Given the description of an element on the screen output the (x, y) to click on. 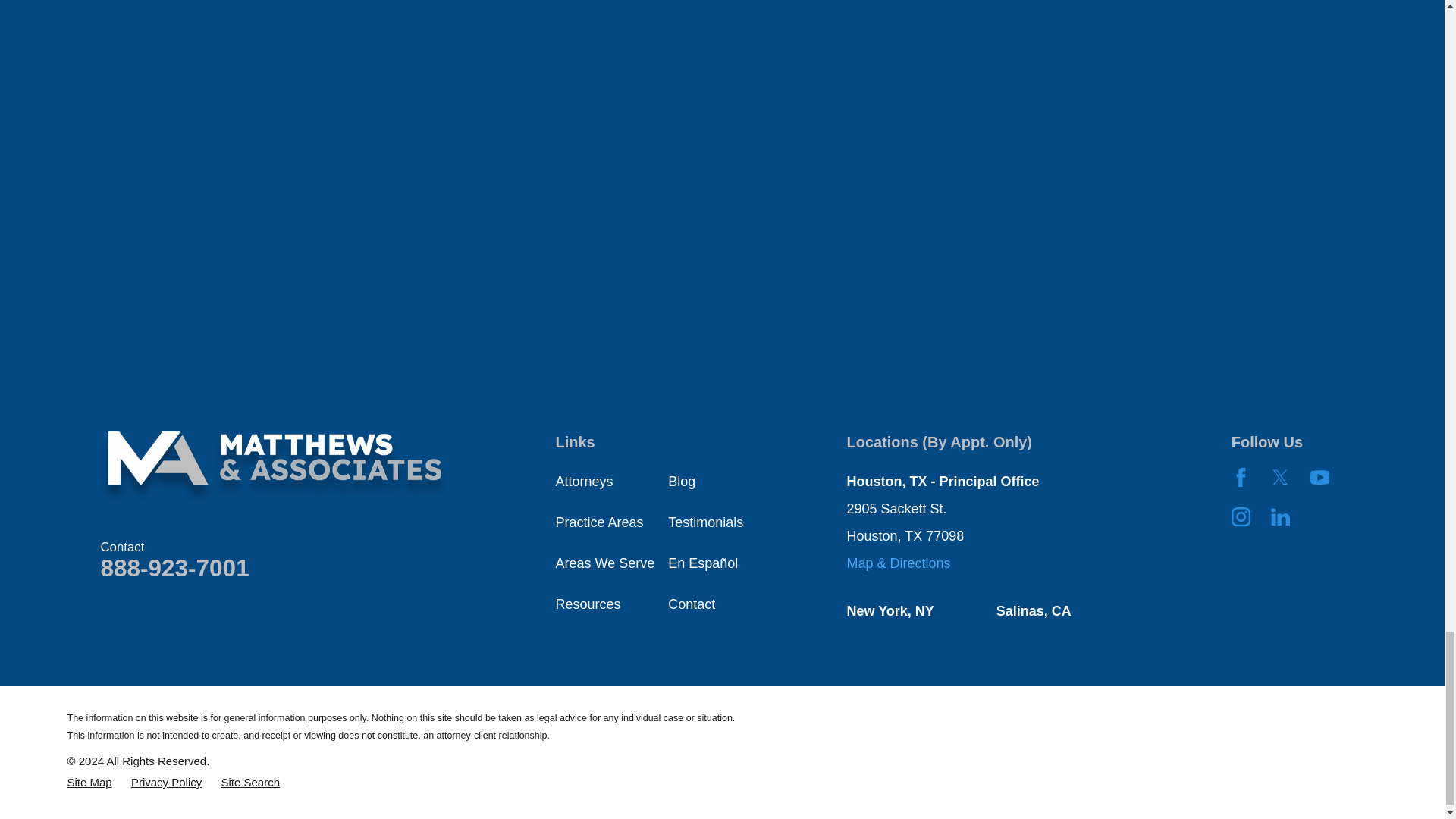
YouTube (1319, 476)
Facebook (1240, 476)
Twitter (1280, 476)
Home (274, 467)
